Given the description of an element on the screen output the (x, y) to click on. 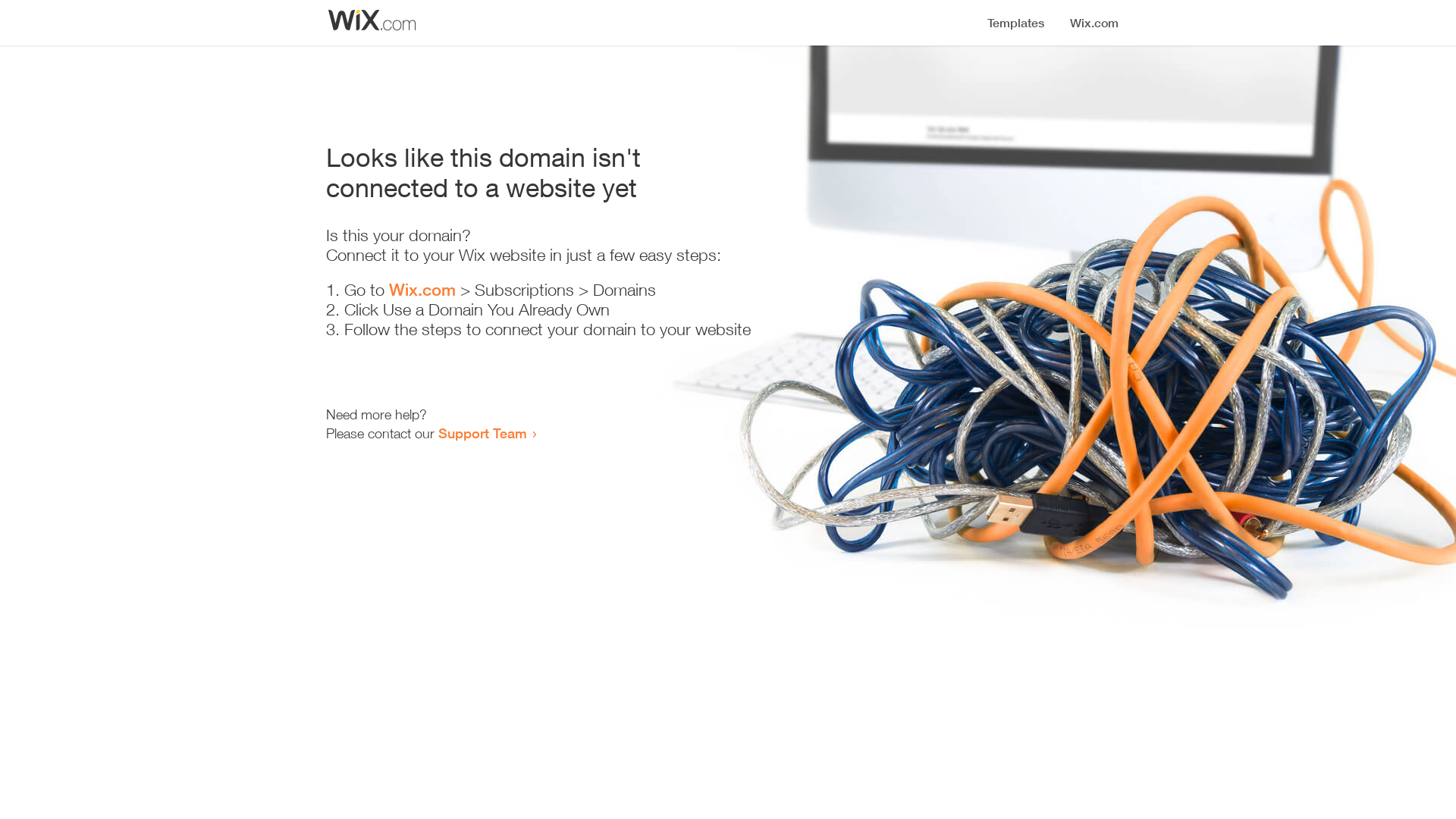
Wix.com Element type: text (422, 289)
Support Team Element type: text (482, 432)
